Given the description of an element on the screen output the (x, y) to click on. 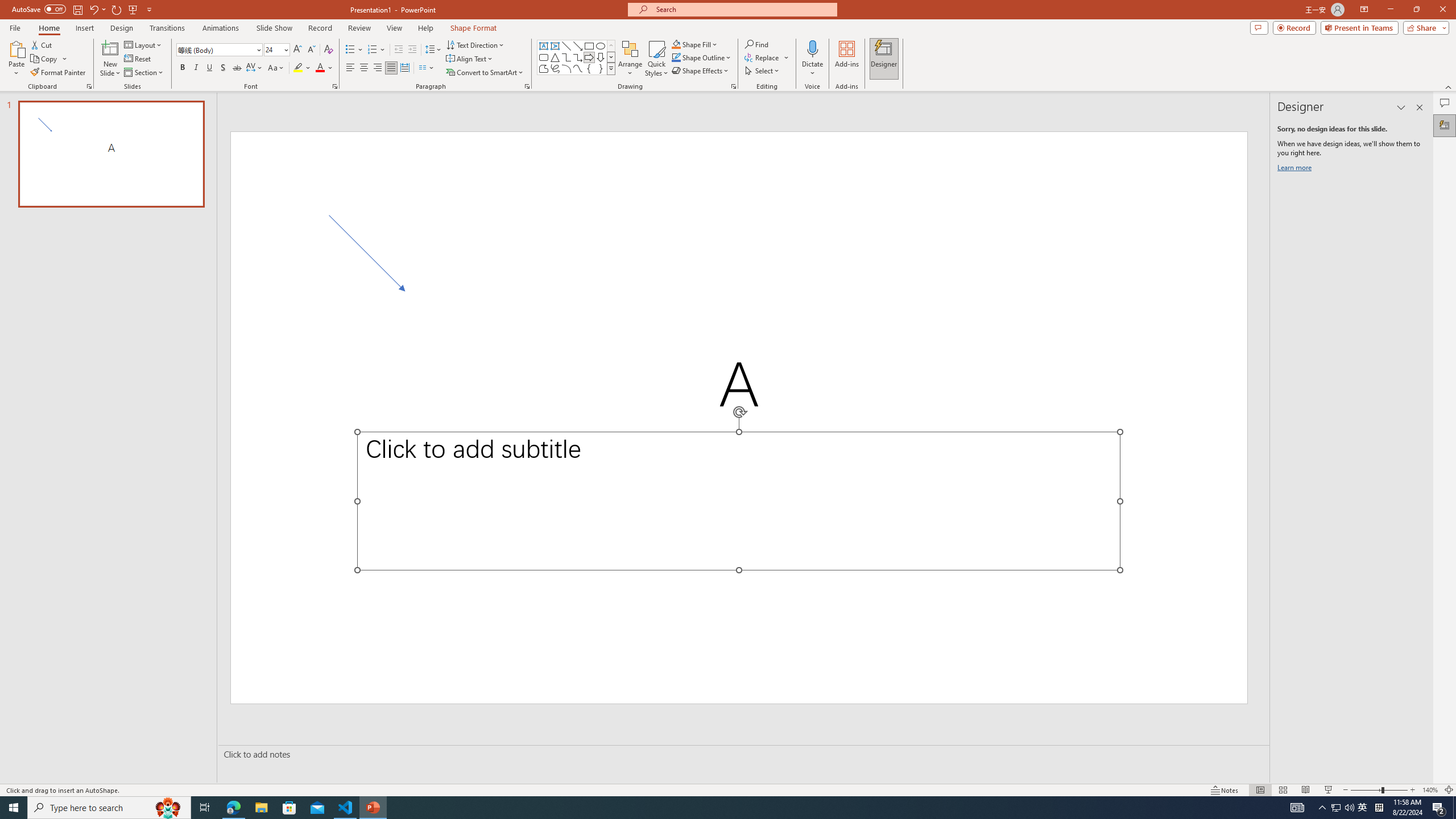
Shape Outline (701, 56)
Shape Format (473, 28)
Shape Outline Blue, Accent 1 (675, 56)
